Given the description of an element on the screen output the (x, y) to click on. 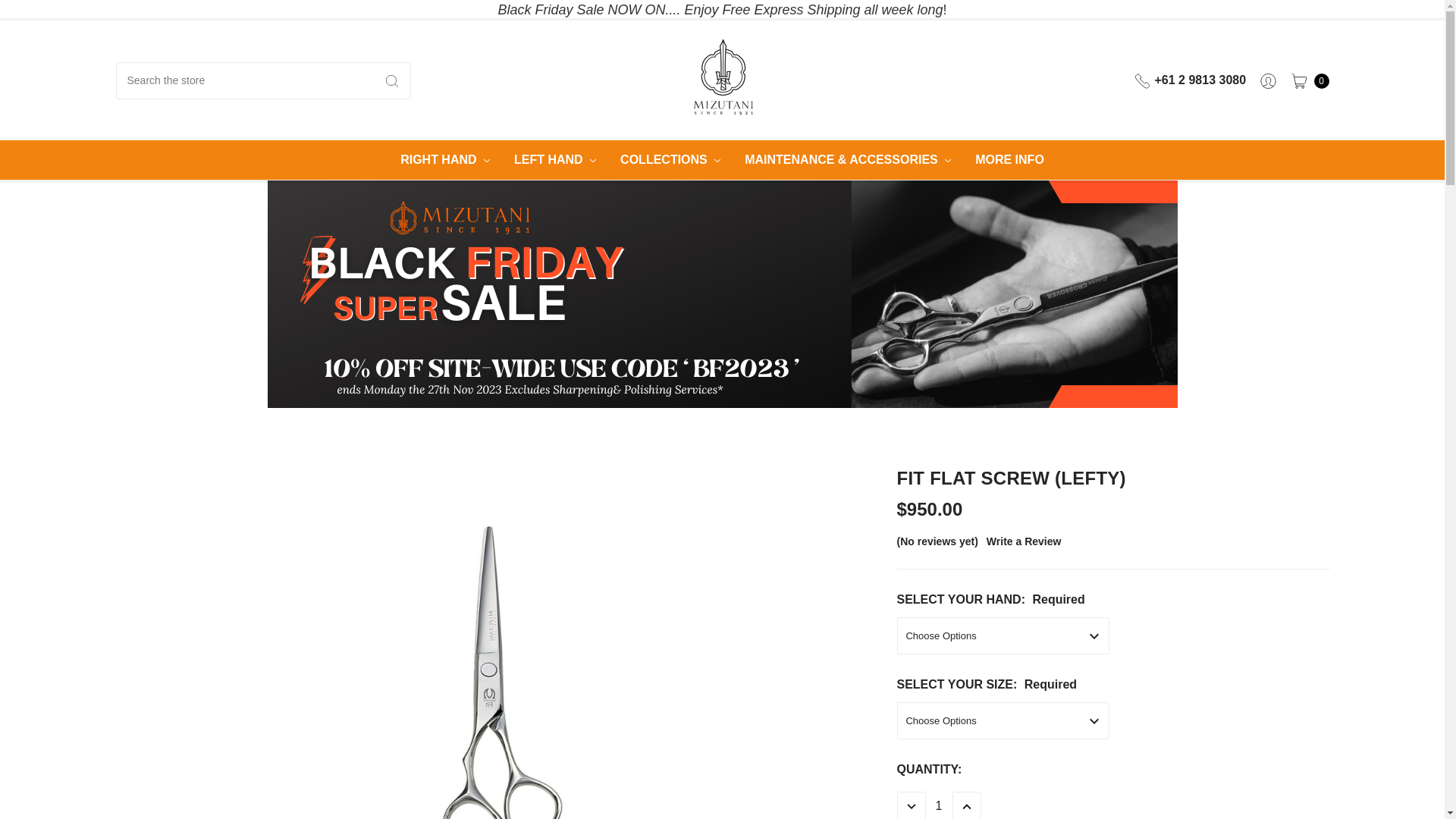
Write a Review Element type: text (1023, 541)
0 Element type: text (1305, 80)
MAINTENANCE & ACCESSORIES Element type: text (847, 159)
COLLECTIONS Element type: text (670, 159)
MIZUTANI SCISSORS Element type: hover (722, 77)
MORE INFO Element type: text (1009, 159)
LEFT HAND Element type: text (555, 159)
+61 2 9813 3080 Element type: text (1192, 80)
RIGHT HAND Element type: text (445, 159)
